Given the description of an element on the screen output the (x, y) to click on. 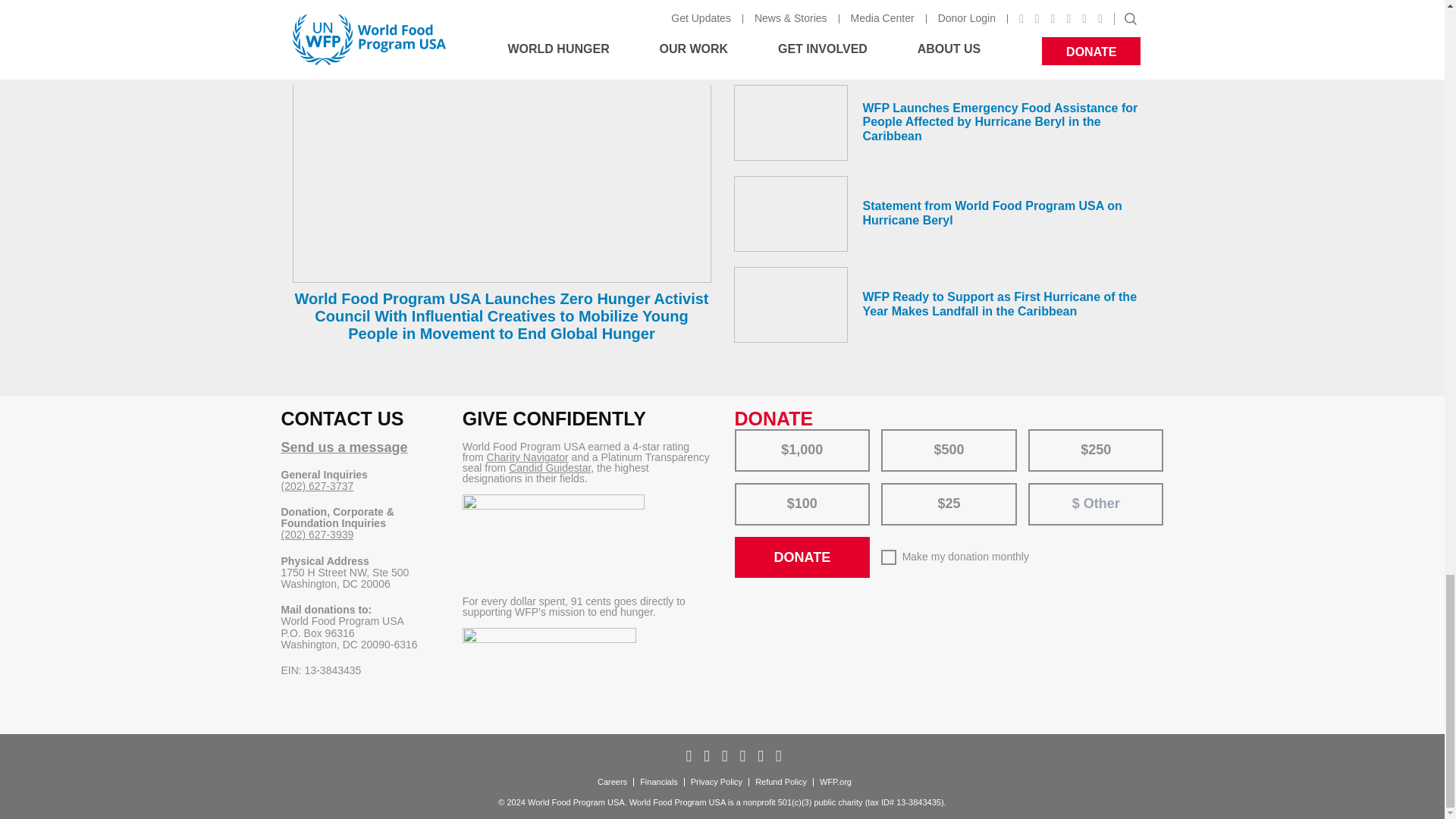
custom (1046, 489)
25 (891, 488)
250 (1038, 433)
1,000 (744, 433)
500 (891, 433)
100 (744, 488)
